Given the description of an element on the screen output the (x, y) to click on. 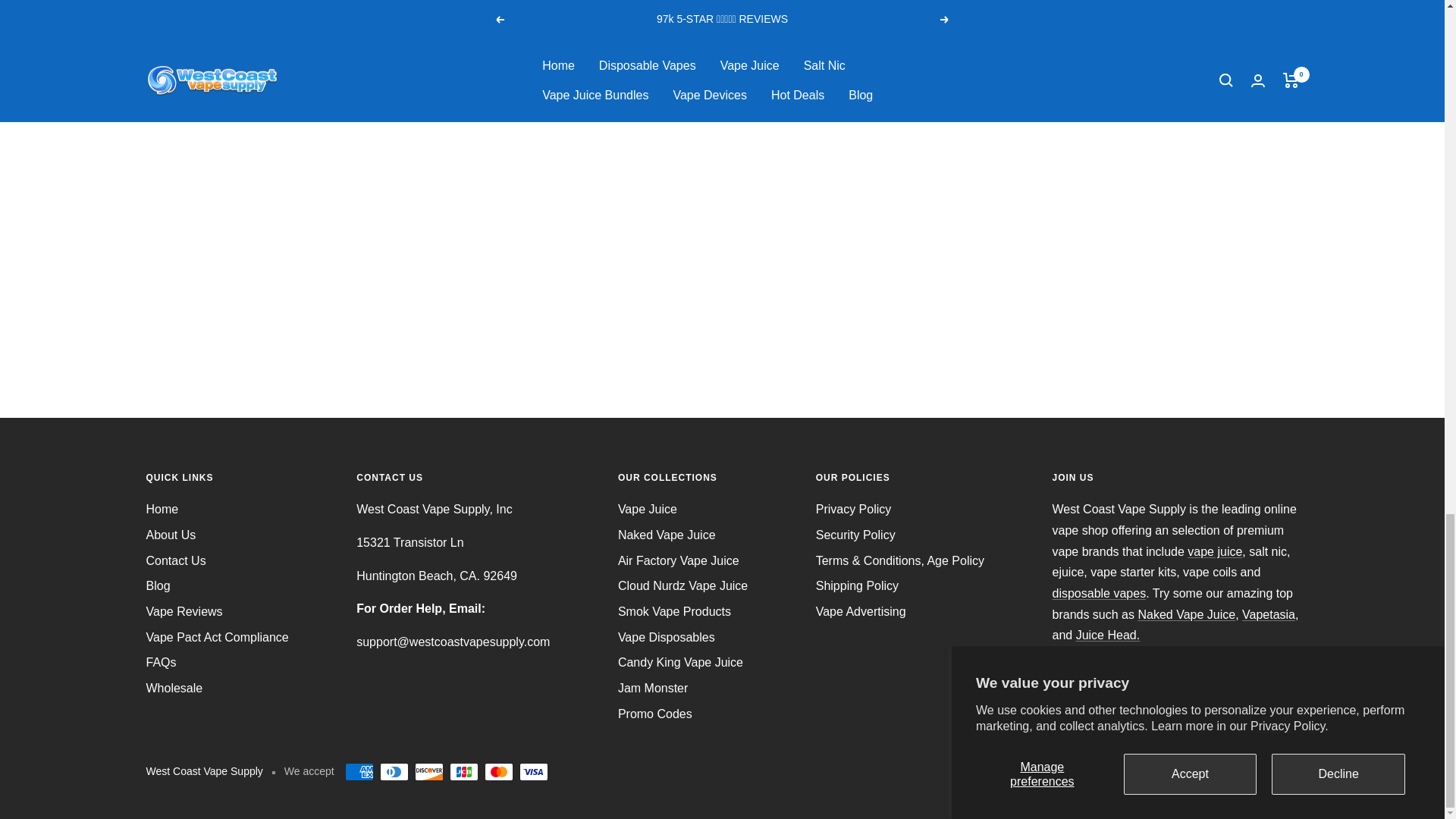
Juice Head (1107, 634)
